Given the description of an element on the screen output the (x, y) to click on. 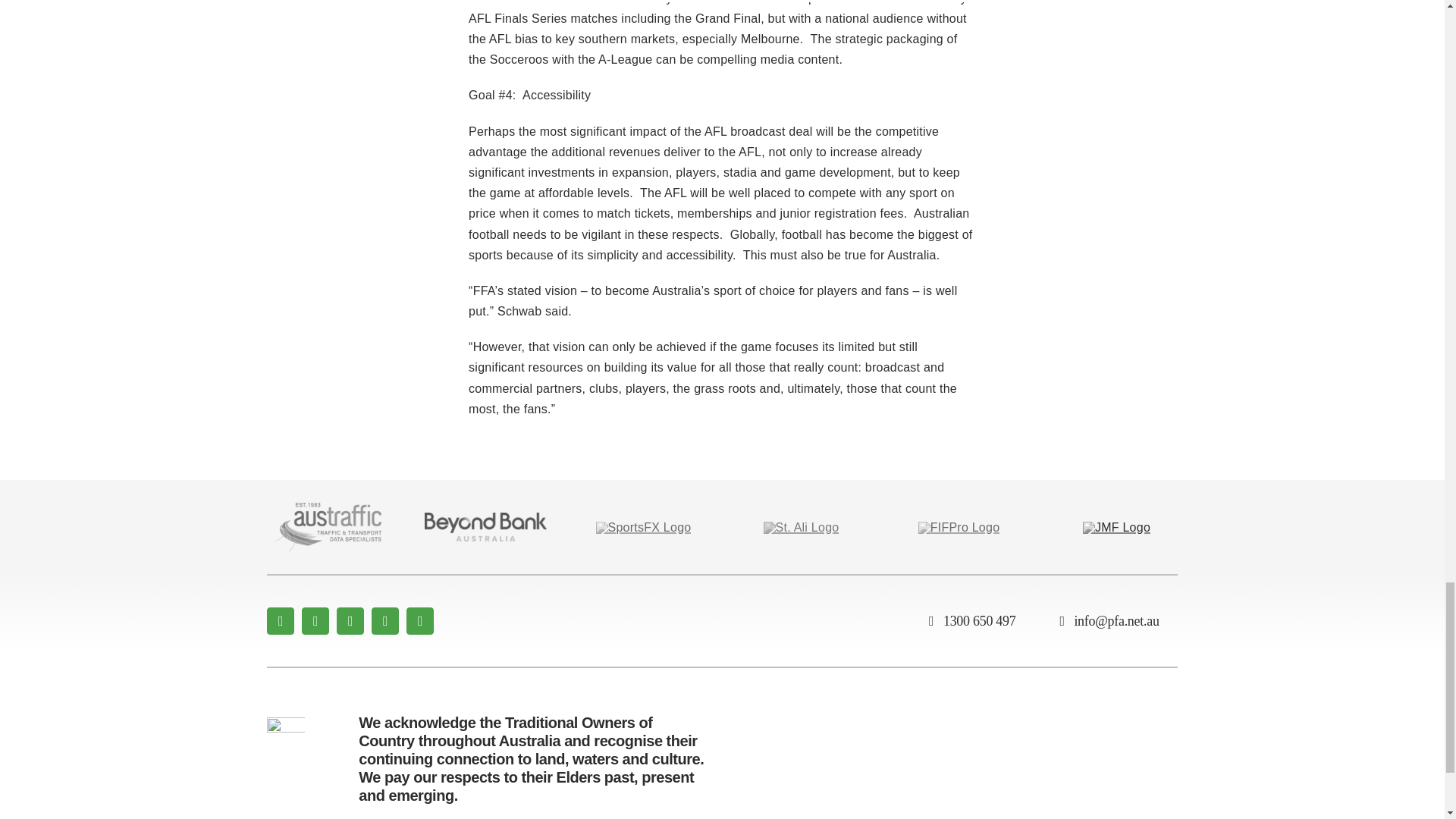
X (315, 620)
YouTube (384, 620)
LinkedIn (419, 620)
Instagram (350, 620)
Facebook (280, 620)
